Given the description of an element on the screen output the (x, y) to click on. 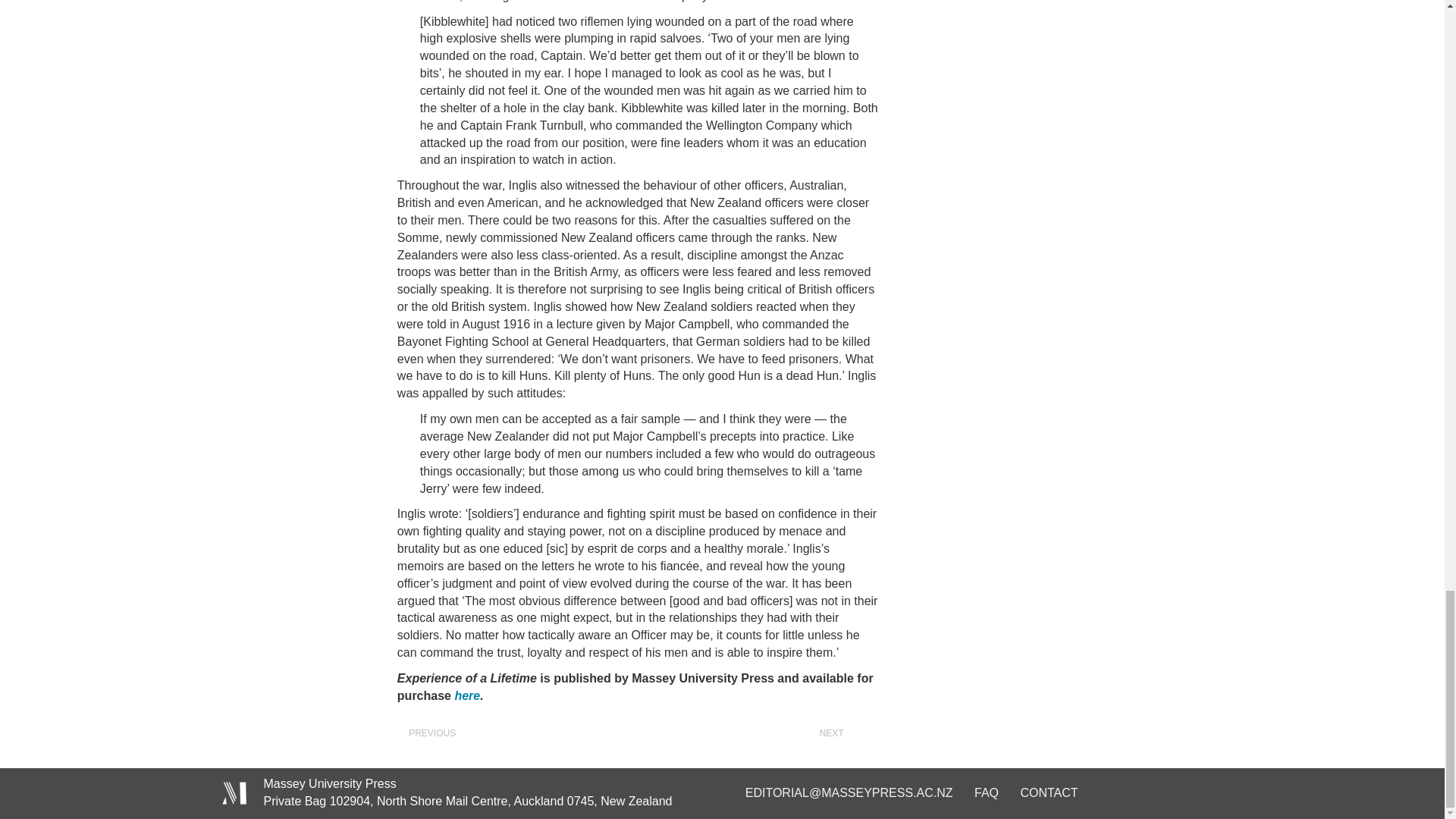
NEXT (839, 734)
here (467, 695)
FAQ (986, 792)
CONTACT (1048, 792)
Experience of a Lifetime (467, 695)
PREVIOUS (424, 734)
